Given the description of an element on the screen output the (x, y) to click on. 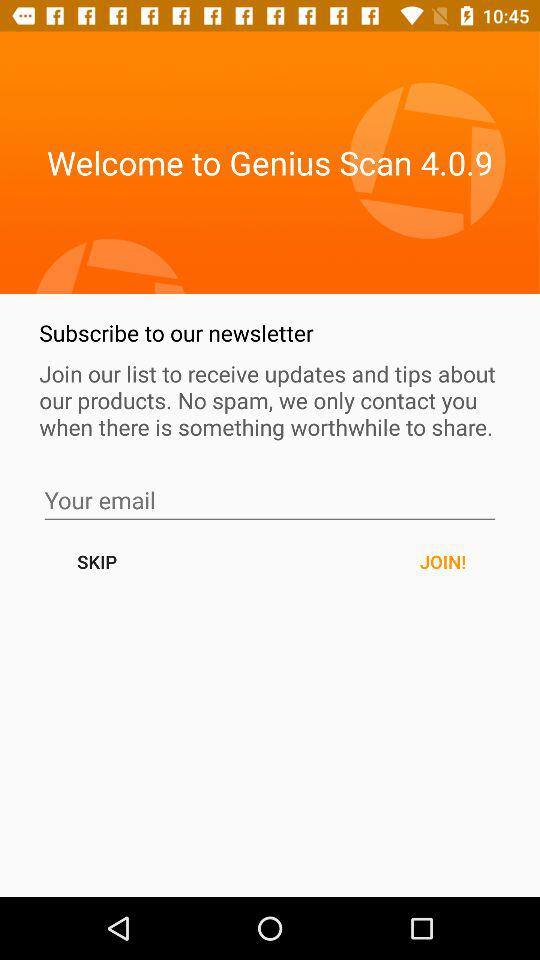
enter your email address (269, 500)
